Given the description of an element on the screen output the (x, y) to click on. 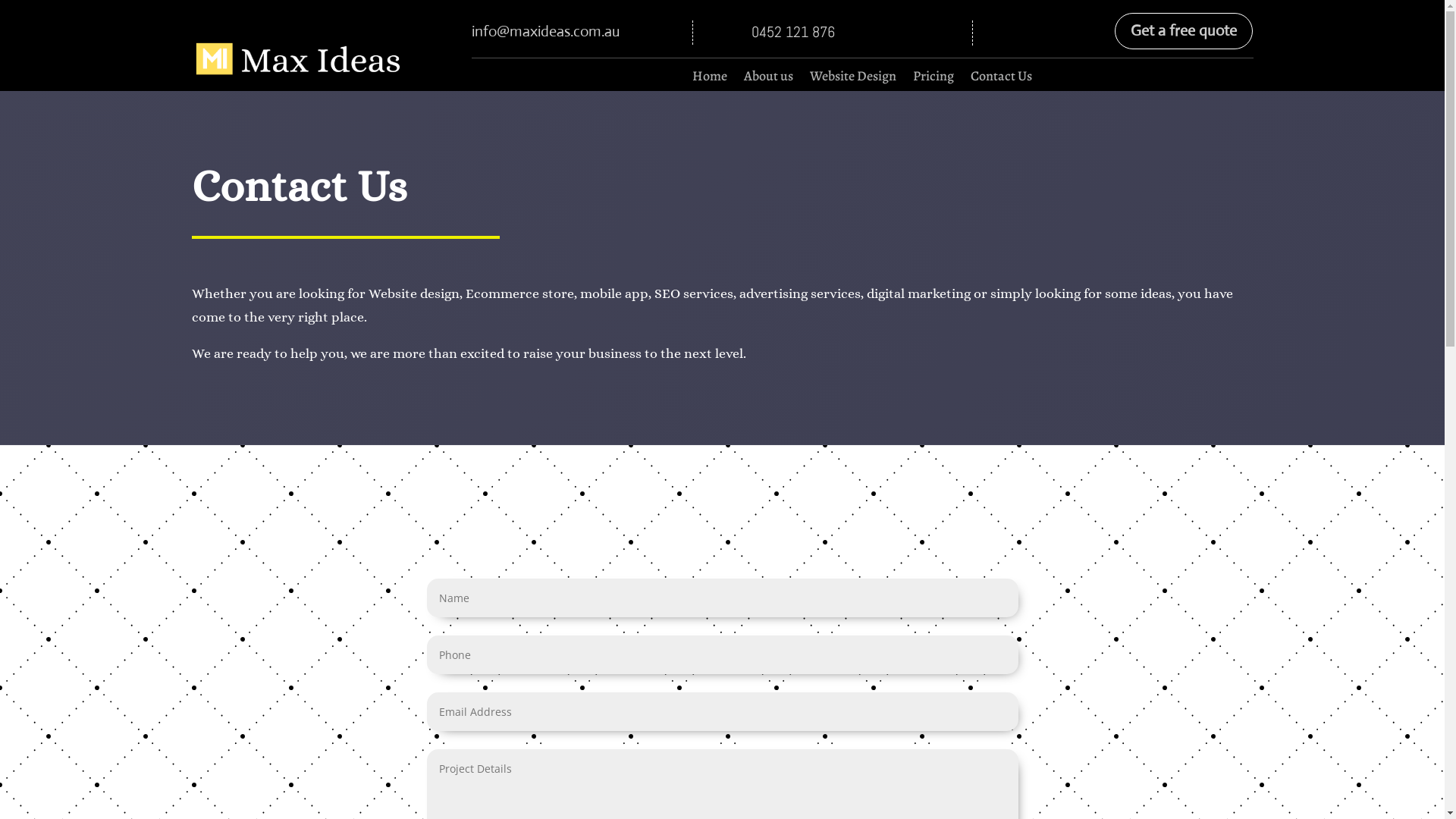
Get a free quote Element type: text (1183, 30)
info@maxideas.com.au Element type: text (545, 30)
1 Element type: hover (301, 60)
Website Design Element type: text (852, 78)
Contact Us Element type: text (1001, 78)
About us Element type: text (768, 78)
Home Element type: text (709, 78)
Pricing Element type: text (933, 78)
0452 121 876 Element type: text (792, 31)
